Given the description of an element on the screen output the (x, y) to click on. 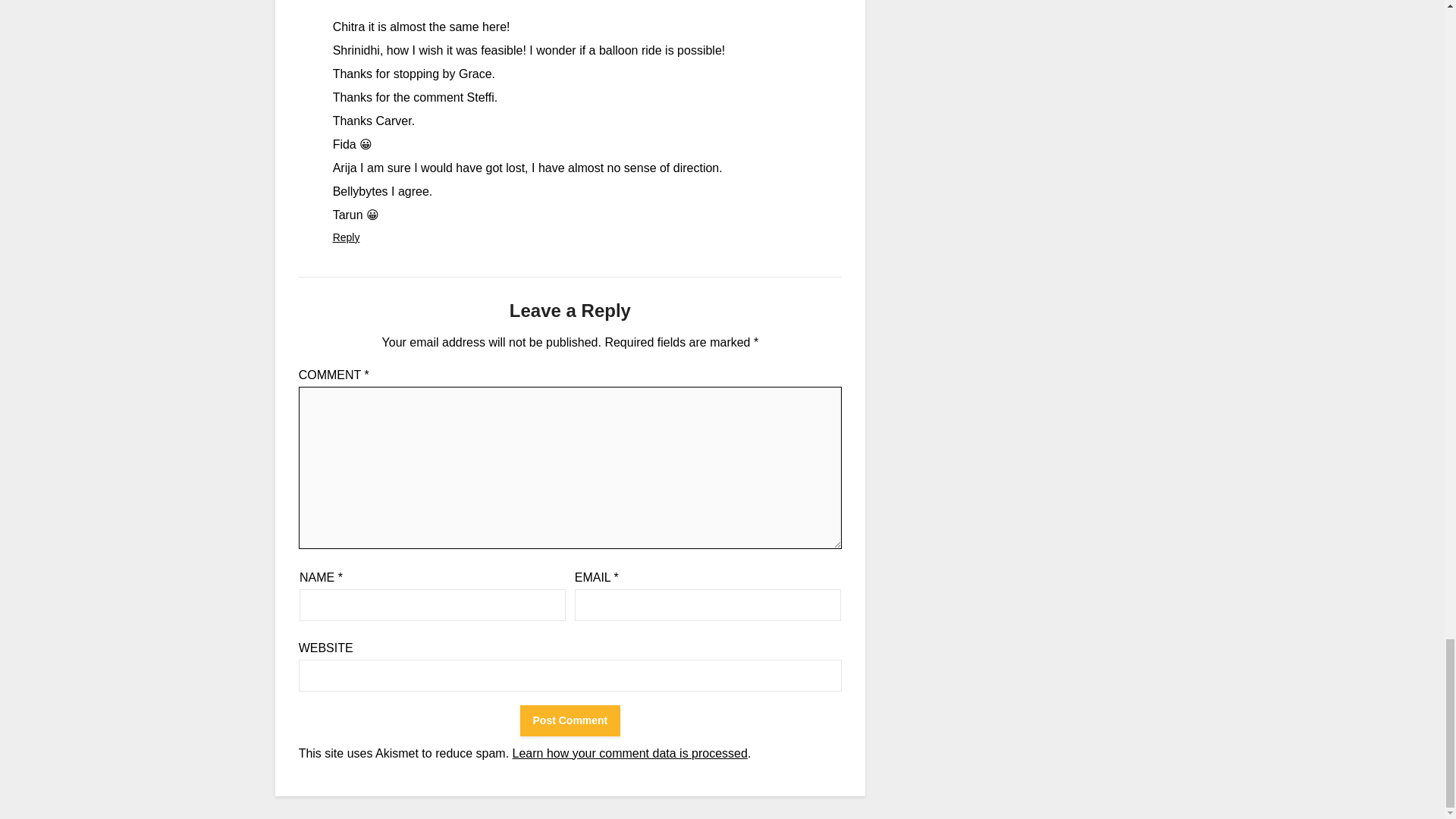
Post Comment (570, 720)
